Given the description of an element on the screen output the (x, y) to click on. 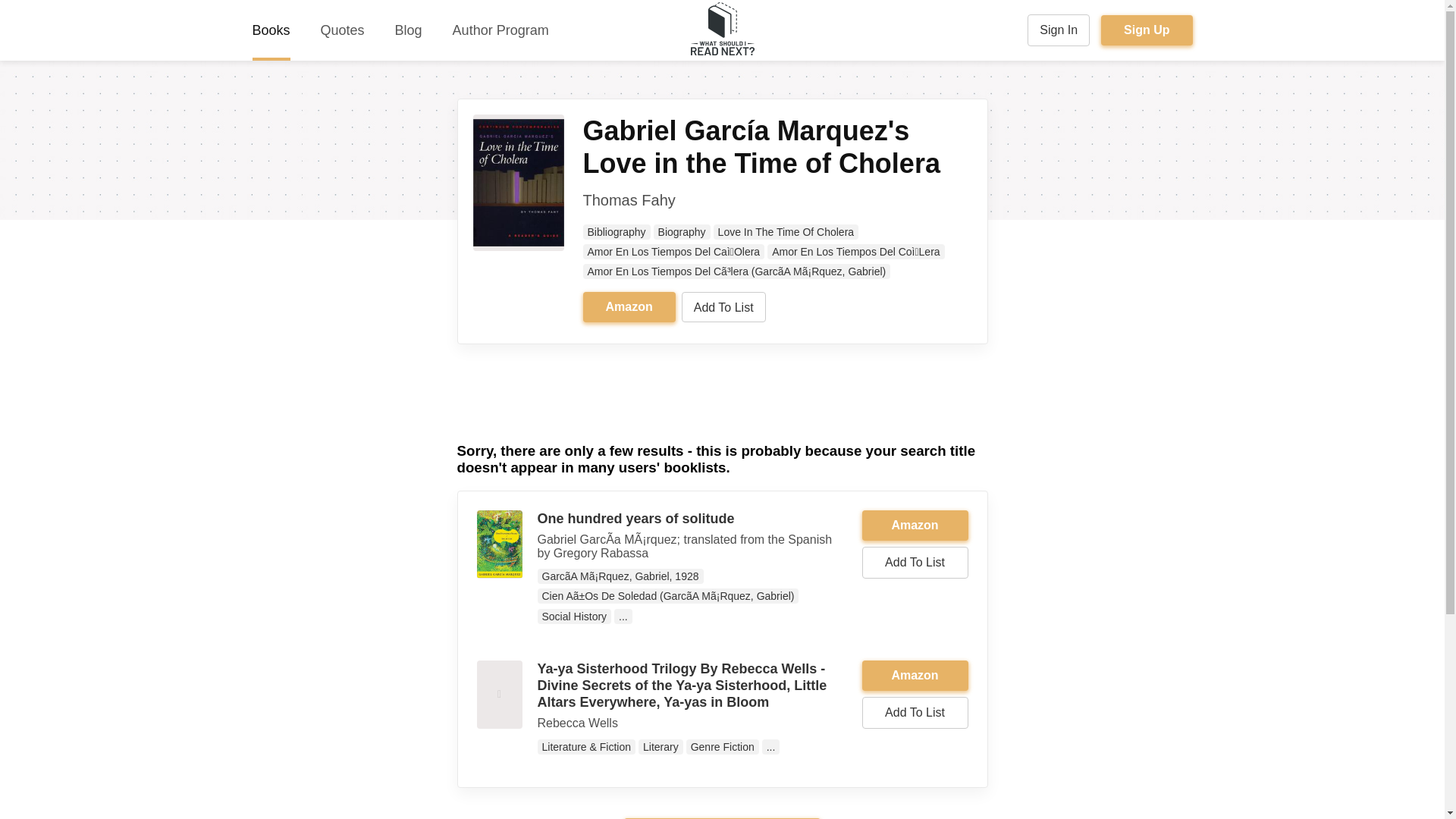
... (622, 616)
Sign In (1058, 29)
Add To List (723, 306)
Amazon (914, 525)
One hundred years of solitude (635, 518)
Blog (408, 30)
Amazon (628, 306)
Author Program (500, 30)
Amazon (914, 675)
Biography (681, 231)
Thomas Fahy (628, 199)
Books (270, 30)
Amazon (914, 675)
Social History (574, 616)
Quotes (342, 30)
